Given the description of an element on the screen output the (x, y) to click on. 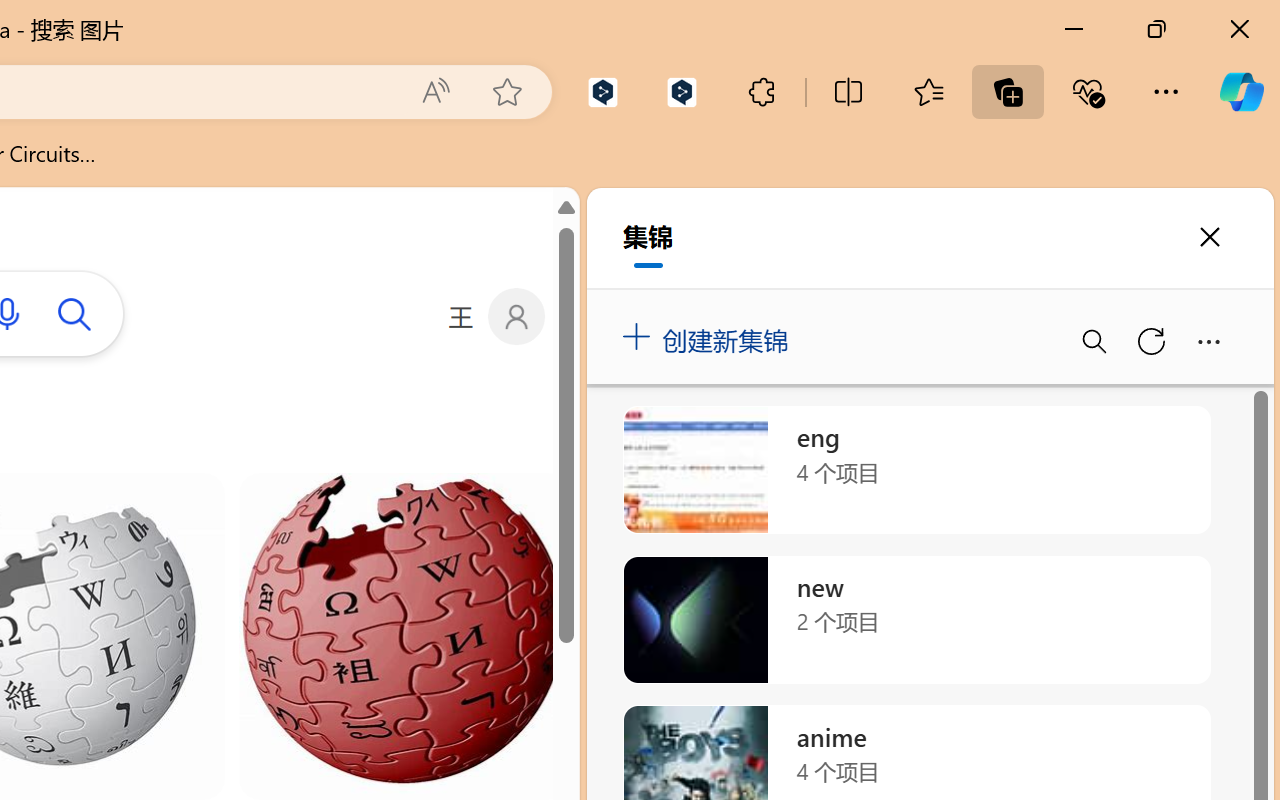
Microsoft Rewards 13061 (647, 316)
Copilot (Ctrl+Shift+.) (1241, 91)
